Given the description of an element on the screen output the (x, y) to click on. 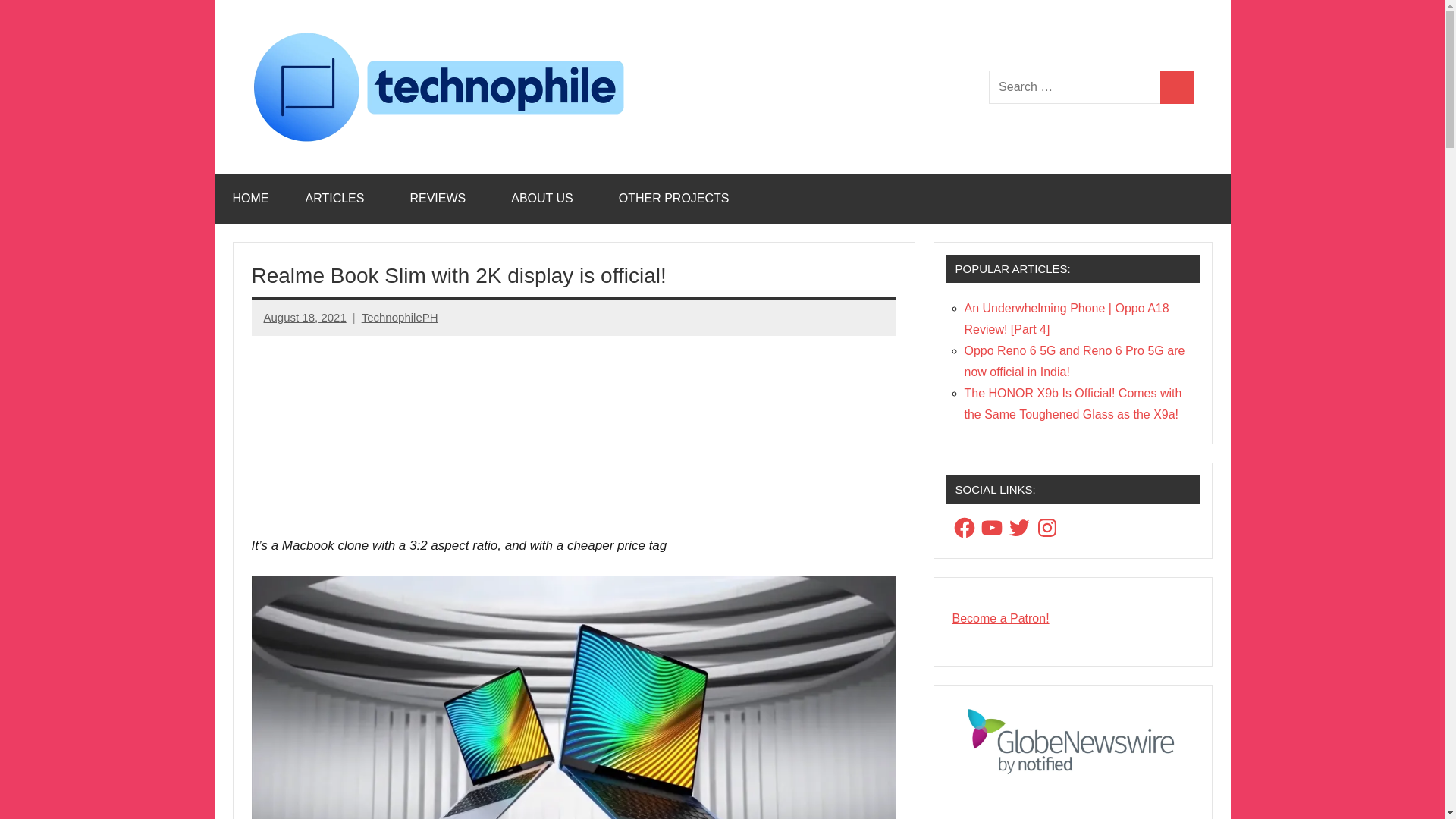
Search for: (1074, 87)
HOME (250, 198)
REVIEWS (442, 198)
TechnophilePH (399, 317)
Search (1176, 87)
ARTICLES (338, 198)
August 18, 2021 (304, 317)
View all posts by TechnophilePH (399, 317)
ABOUT US (546, 198)
Advertisement (573, 423)
OTHER PROJECTS (678, 198)
